Given the description of an element on the screen output the (x, y) to click on. 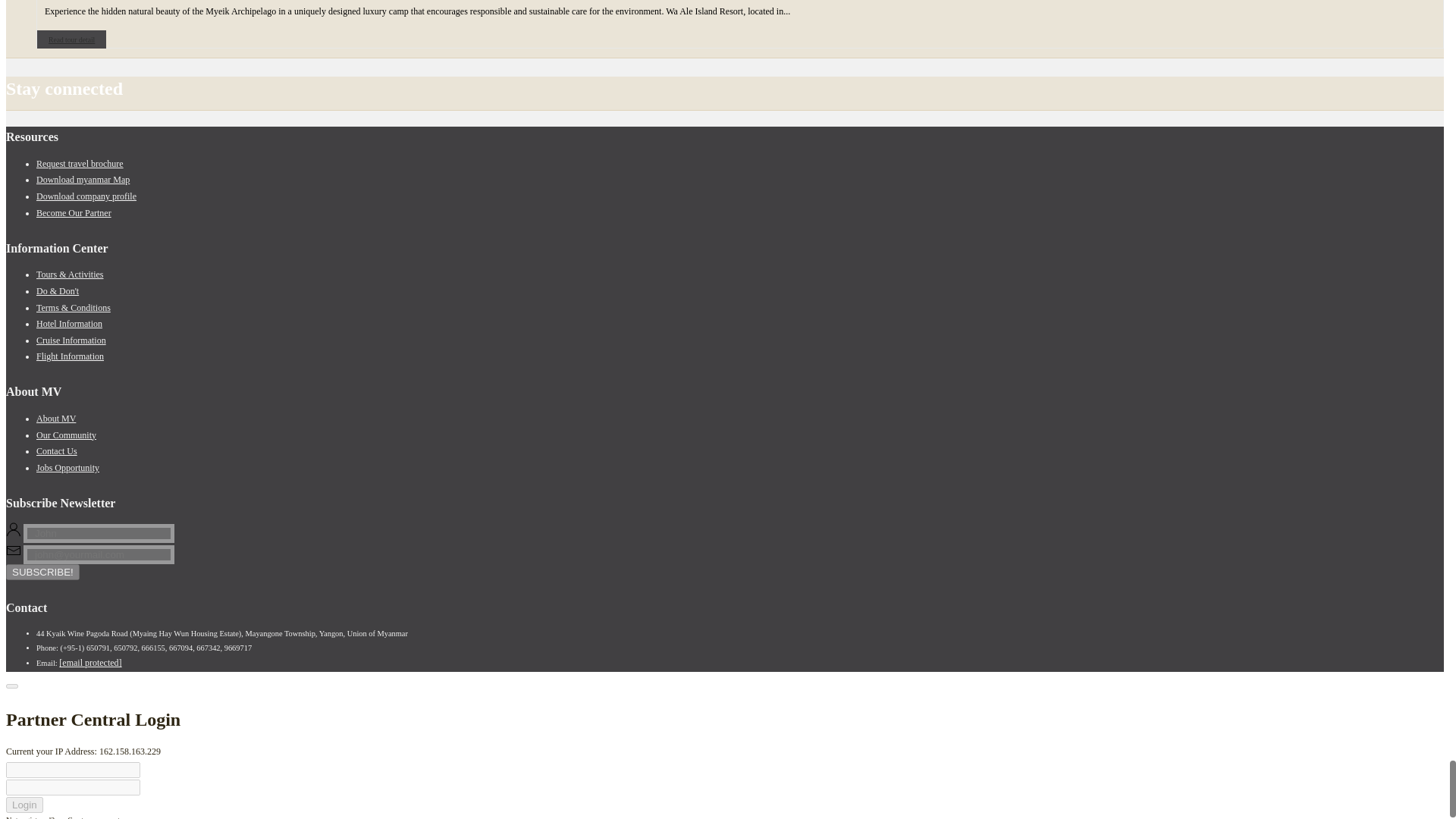
SUBSCRIBE! (42, 571)
Login (24, 804)
